Given the description of an element on the screen output the (x, y) to click on. 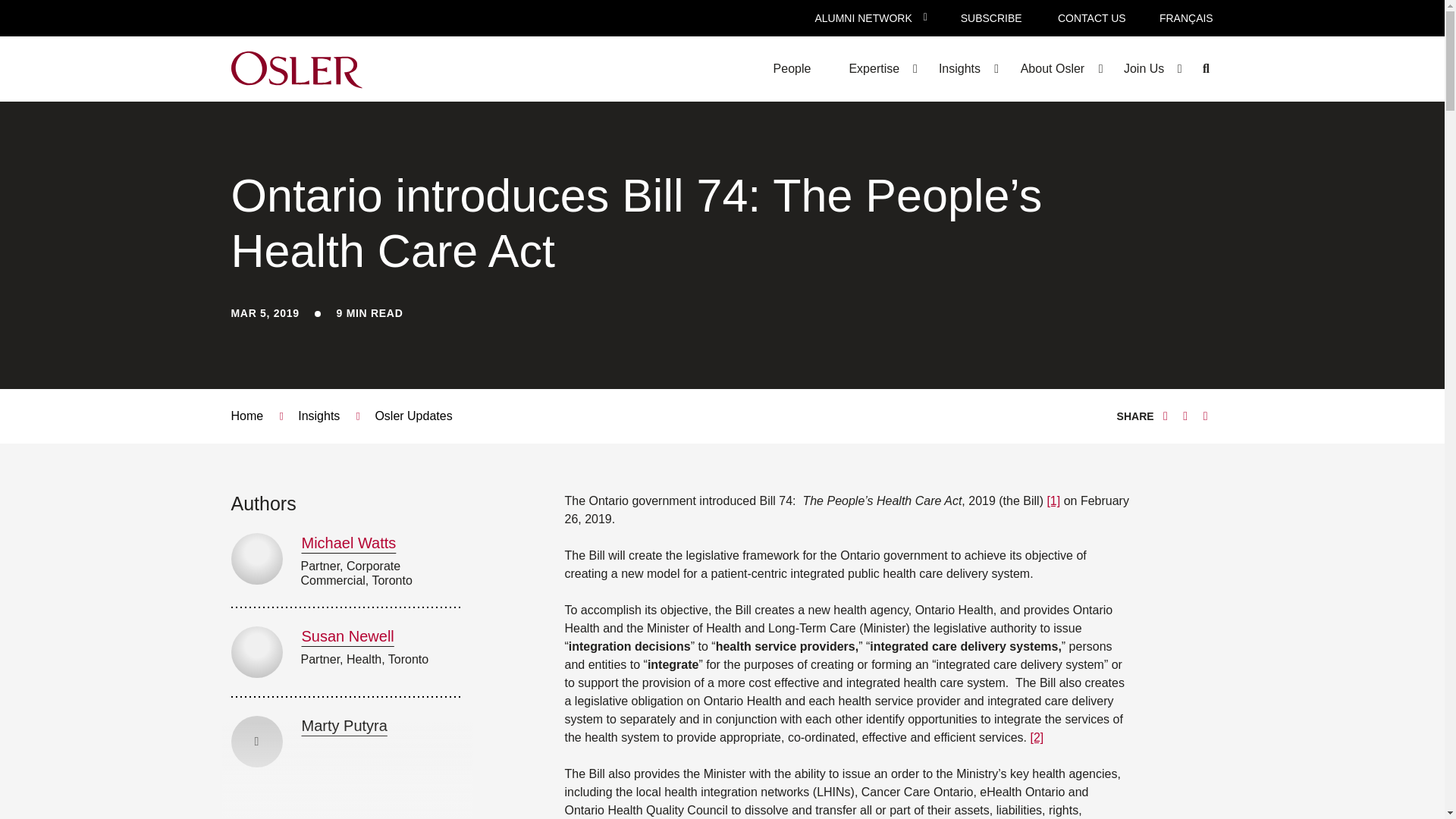
Twitter - Share (1165, 416)
SUBSCRIBE (991, 18)
Linkedin - Share (1184, 416)
Osler Logo (295, 68)
CONTACT US (1091, 18)
ALUMNI NETWORK (862, 18)
SUBSCRIBE (991, 18)
About Osler (1051, 68)
ALUMNI NETWORK (862, 18)
Expertise (874, 68)
